Given the description of an element on the screen output the (x, y) to click on. 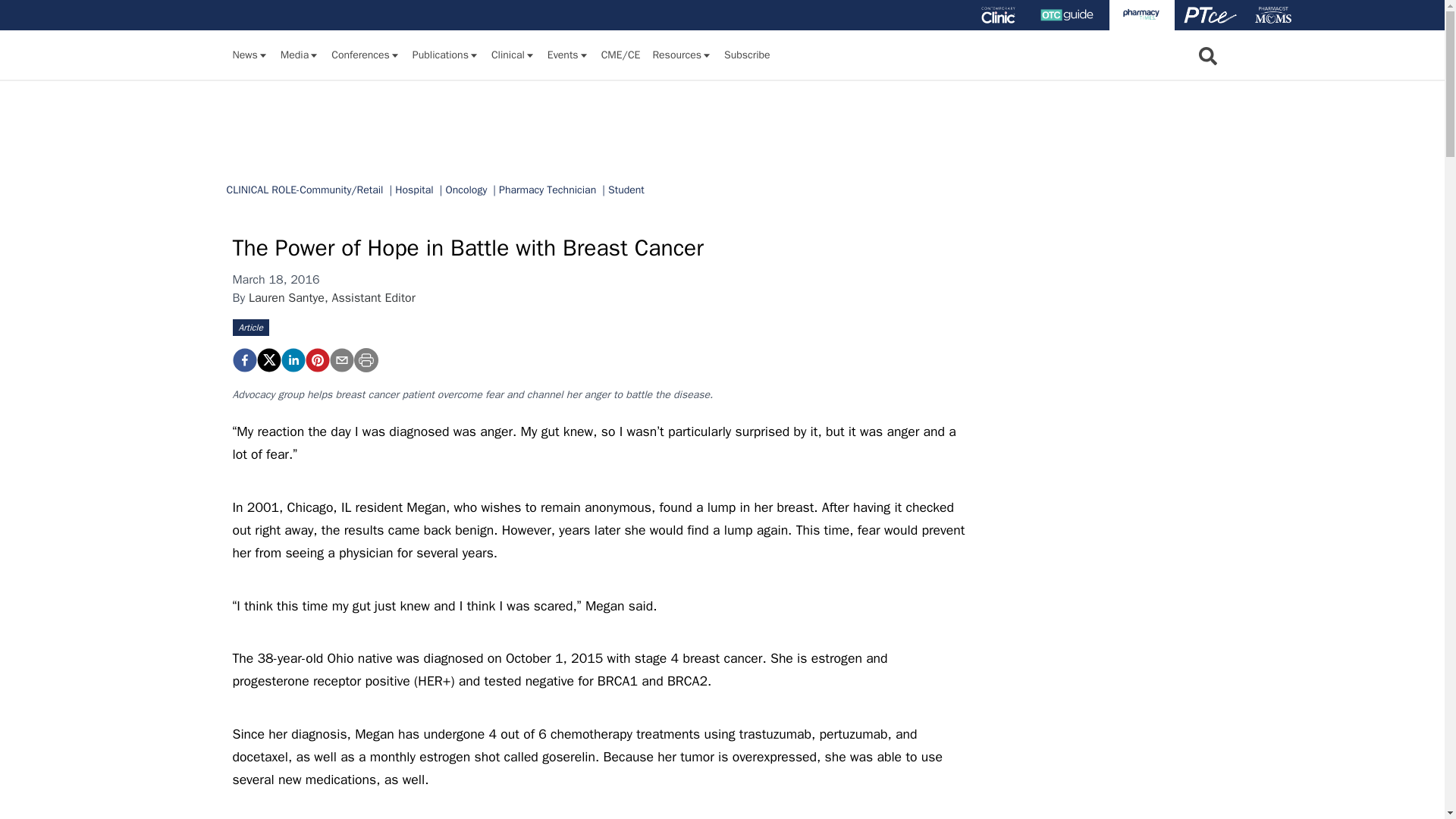
The Power of Hope in Battle with Breast Cancer (316, 360)
The Power of Hope in Battle with Breast Cancer (243, 360)
